Given the description of an element on the screen output the (x, y) to click on. 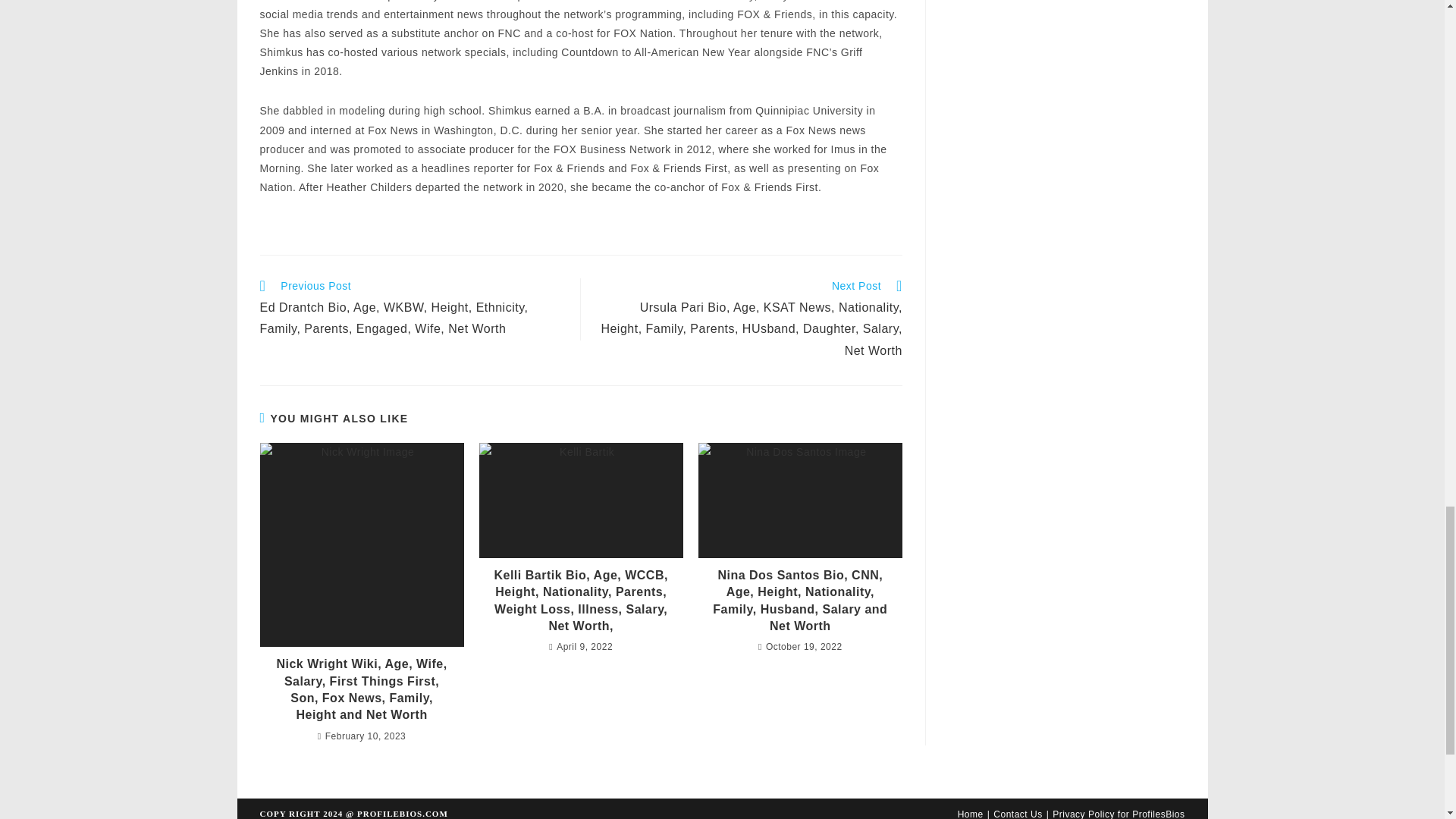
Privacy Policy for ProfilesBios (1118, 814)
Contact Us (1017, 814)
Home (971, 814)
